Given the description of an element on the screen output the (x, y) to click on. 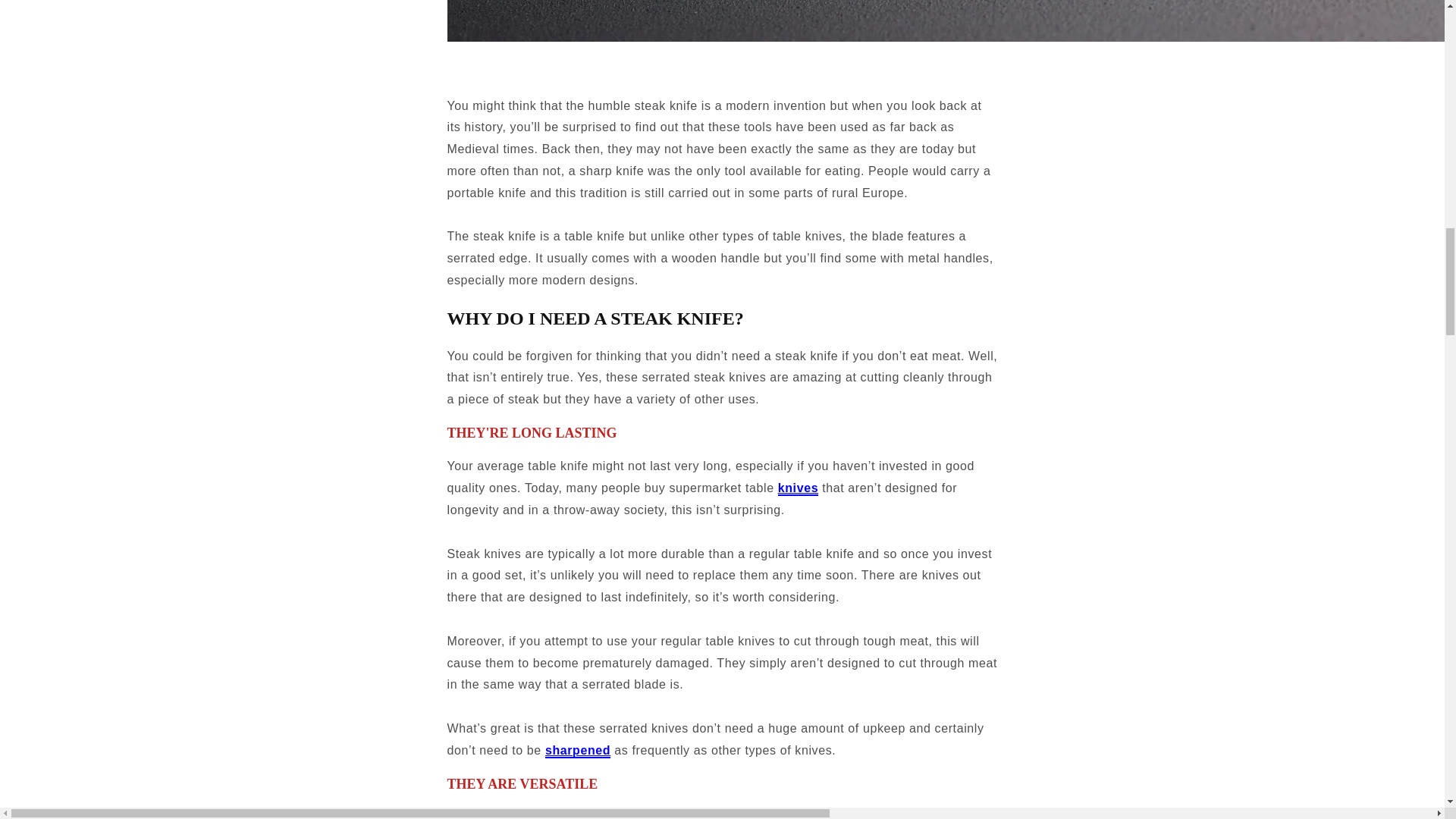
Beginner's guide to Buying Japanese Chefs Knives (797, 488)
sharpened (577, 750)
knives (797, 488)
How Often Should You Sharpen a Japanese Knife? (577, 750)
